Given the description of an element on the screen output the (x, y) to click on. 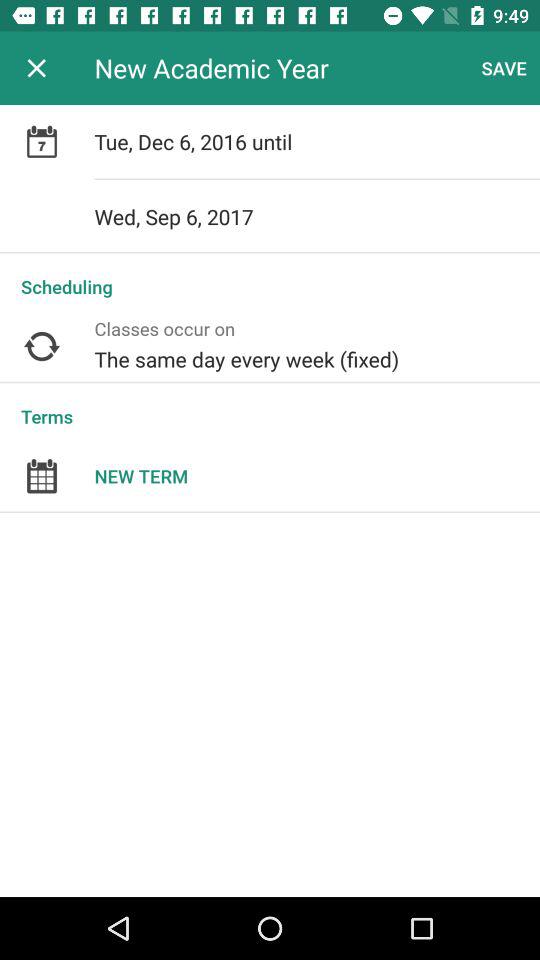
choose the item above the terms item (317, 346)
